Given the description of an element on the screen output the (x, y) to click on. 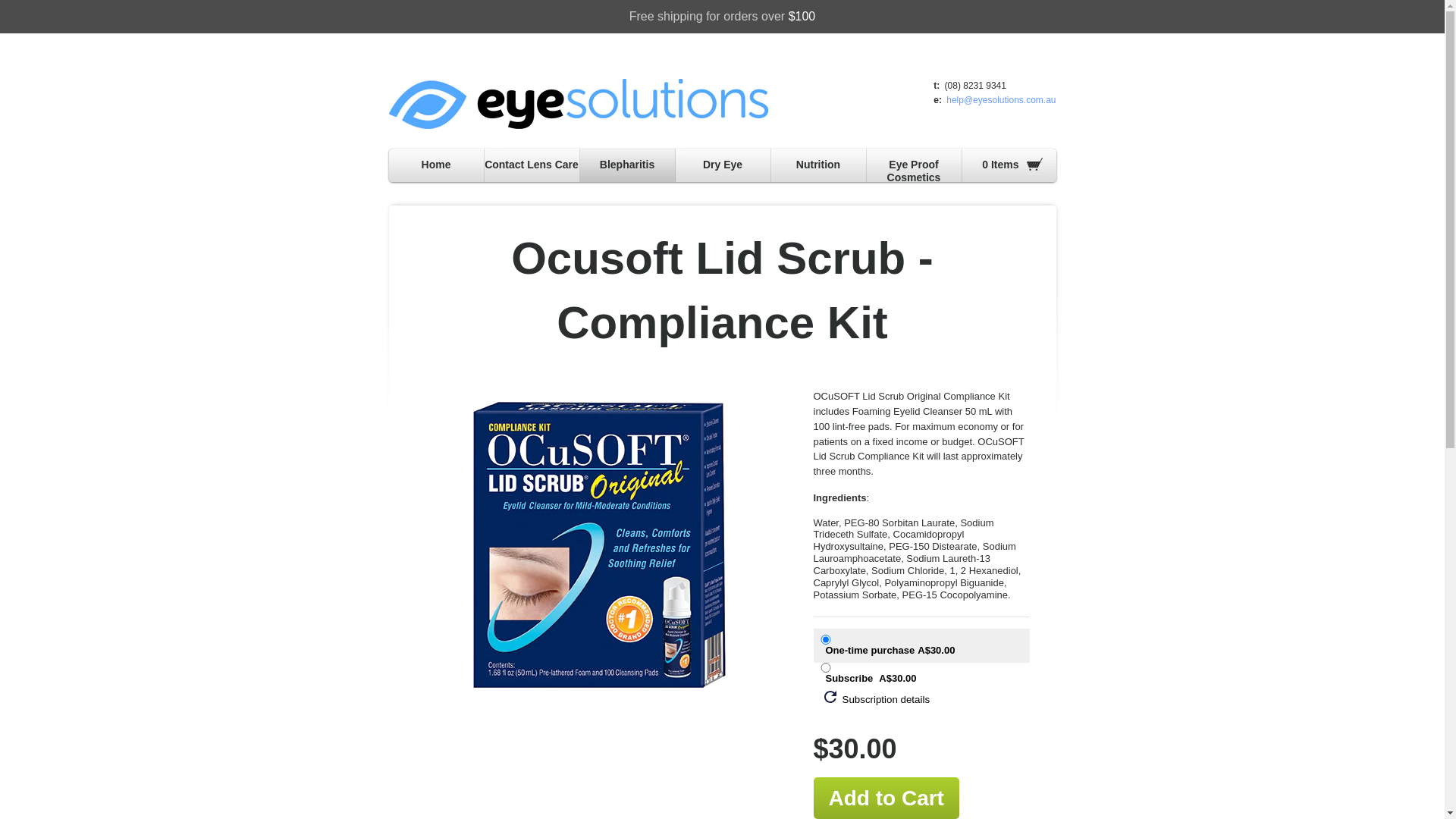
Blepharitis Element type: text (626, 166)
Home Element type: text (435, 166)
Nutrition Element type: text (818, 166)
0 Items Element type: text (1008, 166)
Dry Eye Element type: text (722, 166)
Subscription details Element type: text (876, 698)
Contact Lens Care Element type: text (531, 166)
Eye Proof Cosmetics Element type: text (913, 172)
help@eyesolutions.com.au Element type: text (1000, 99)
